Given the description of an element on the screen output the (x, y) to click on. 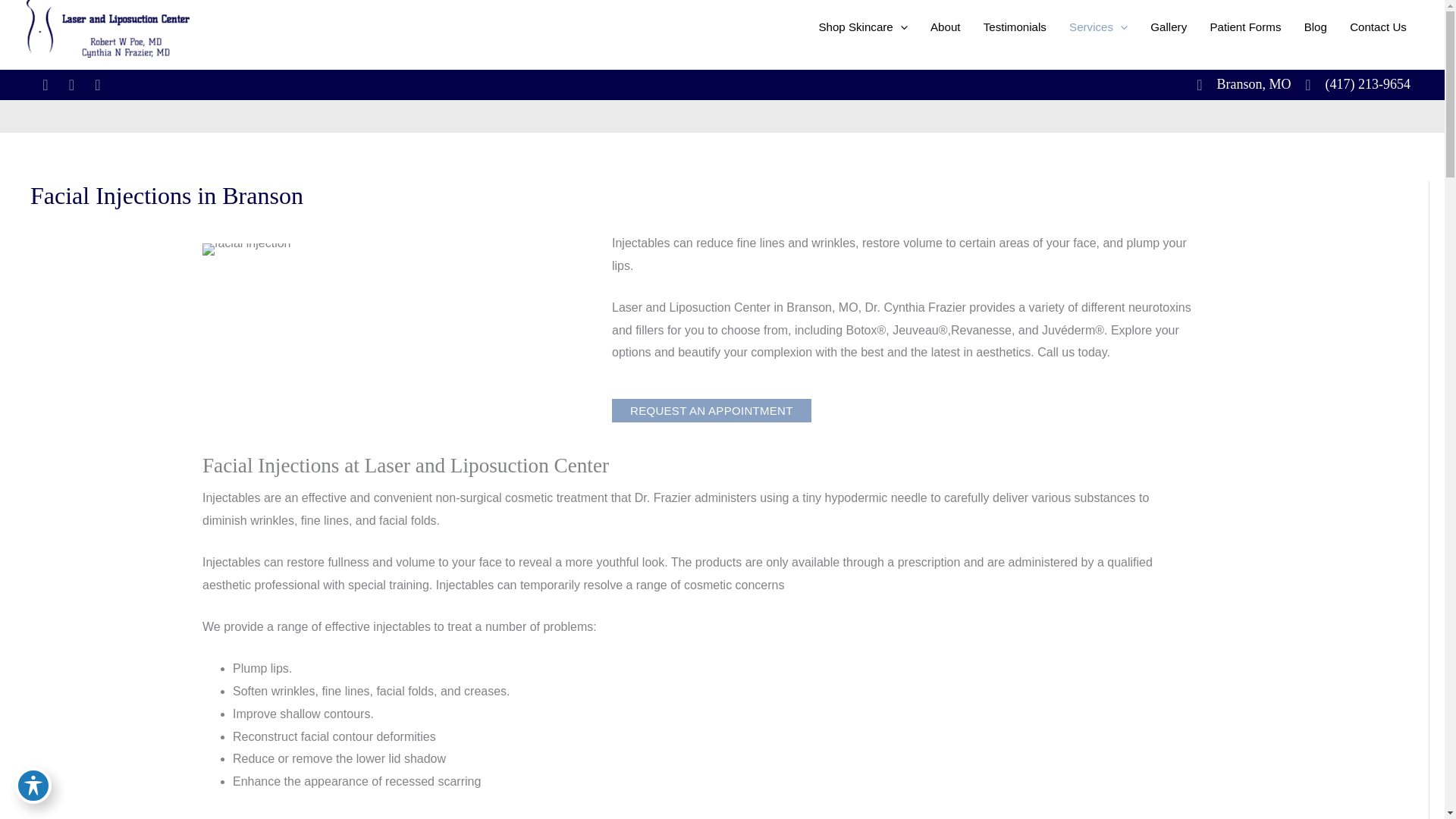
Contact Us (1378, 28)
Shop Skincare (862, 28)
About (945, 28)
Gallery (1168, 28)
Services (1098, 28)
Testimonials (1015, 28)
REQUEST AN APPOINTMENT (710, 410)
Patient Forms (1245, 28)
Branson, MO (1236, 84)
facial injection (246, 247)
